Given the description of an element on the screen output the (x, y) to click on. 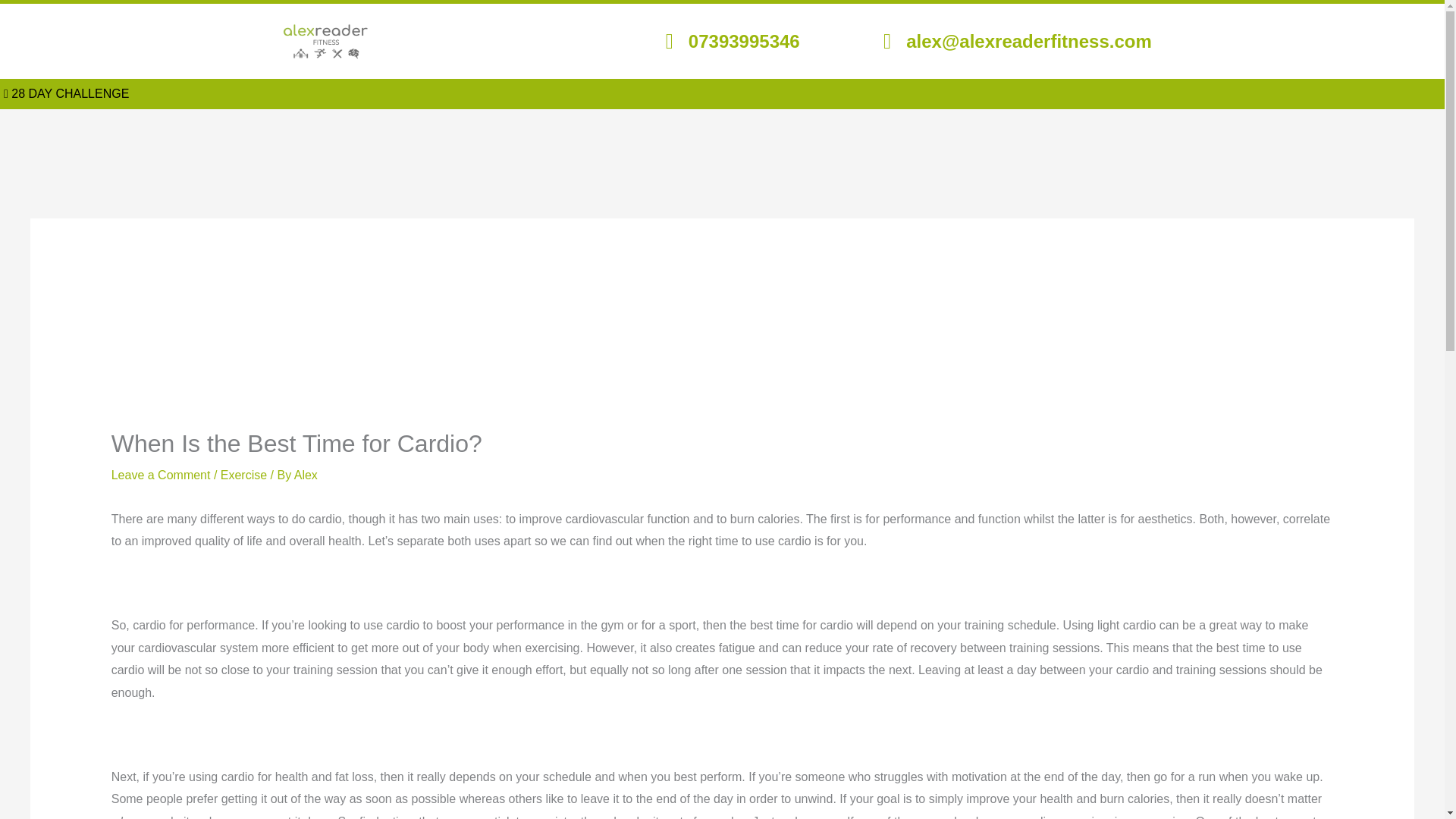
28 DAY CHALLENGE (66, 92)
View all posts by Alex (305, 474)
Leave a Comment (161, 474)
Exercise (243, 474)
Alex (305, 474)
